Given the description of an element on the screen output the (x, y) to click on. 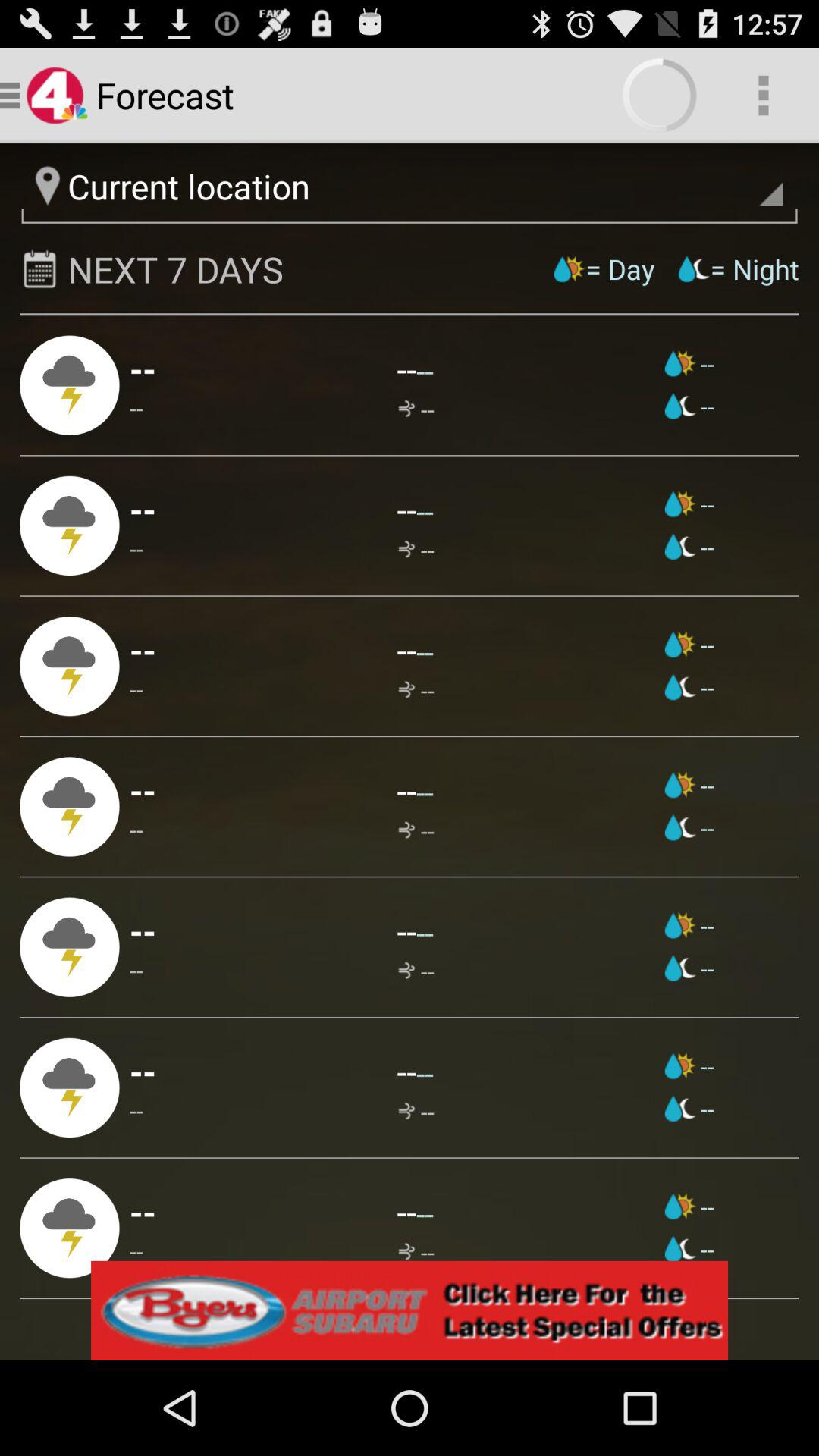
choose icon to the right of -- item (415, 689)
